Given the description of an element on the screen output the (x, y) to click on. 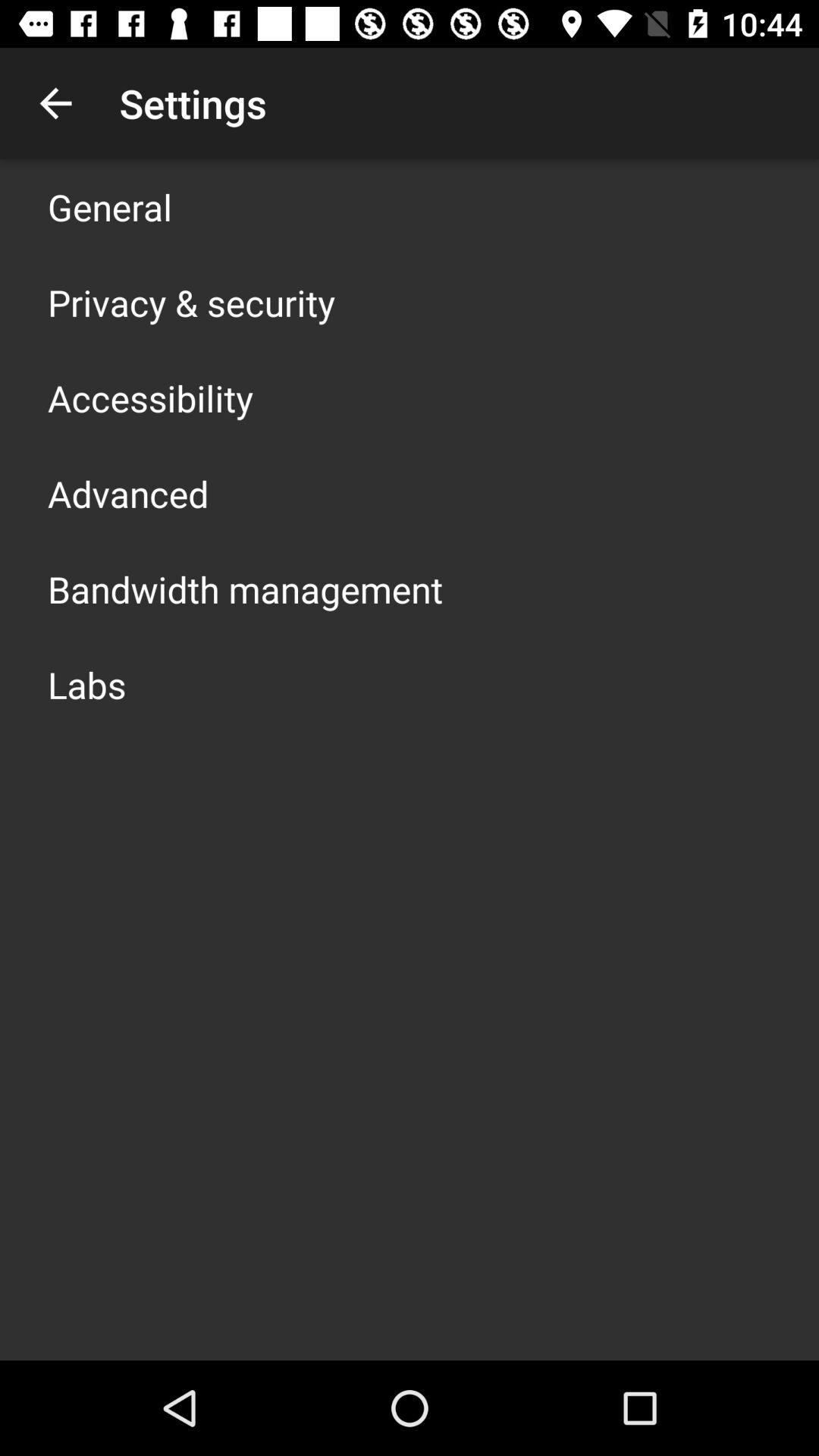
open the item below the advanced (245, 588)
